Given the description of an element on the screen output the (x, y) to click on. 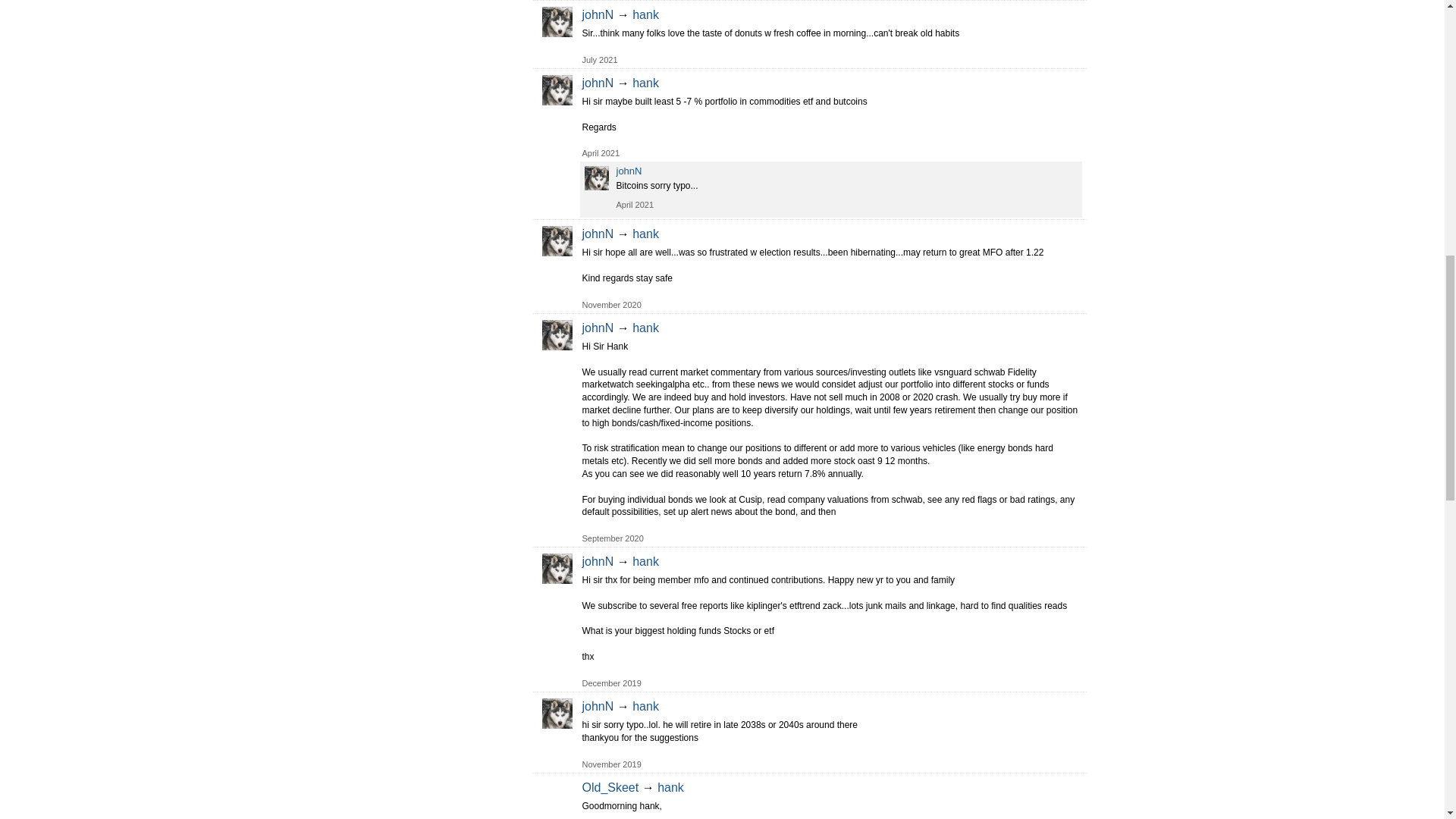
johnN (556, 335)
johnN (556, 568)
johnN (556, 90)
johnN (598, 14)
johnN (556, 713)
johnN (556, 241)
johnN (598, 82)
johnN (595, 178)
johnN (556, 21)
April 10, 2021  8:59PM (634, 204)
hank (645, 14)
